Given the description of an element on the screen output the (x, y) to click on. 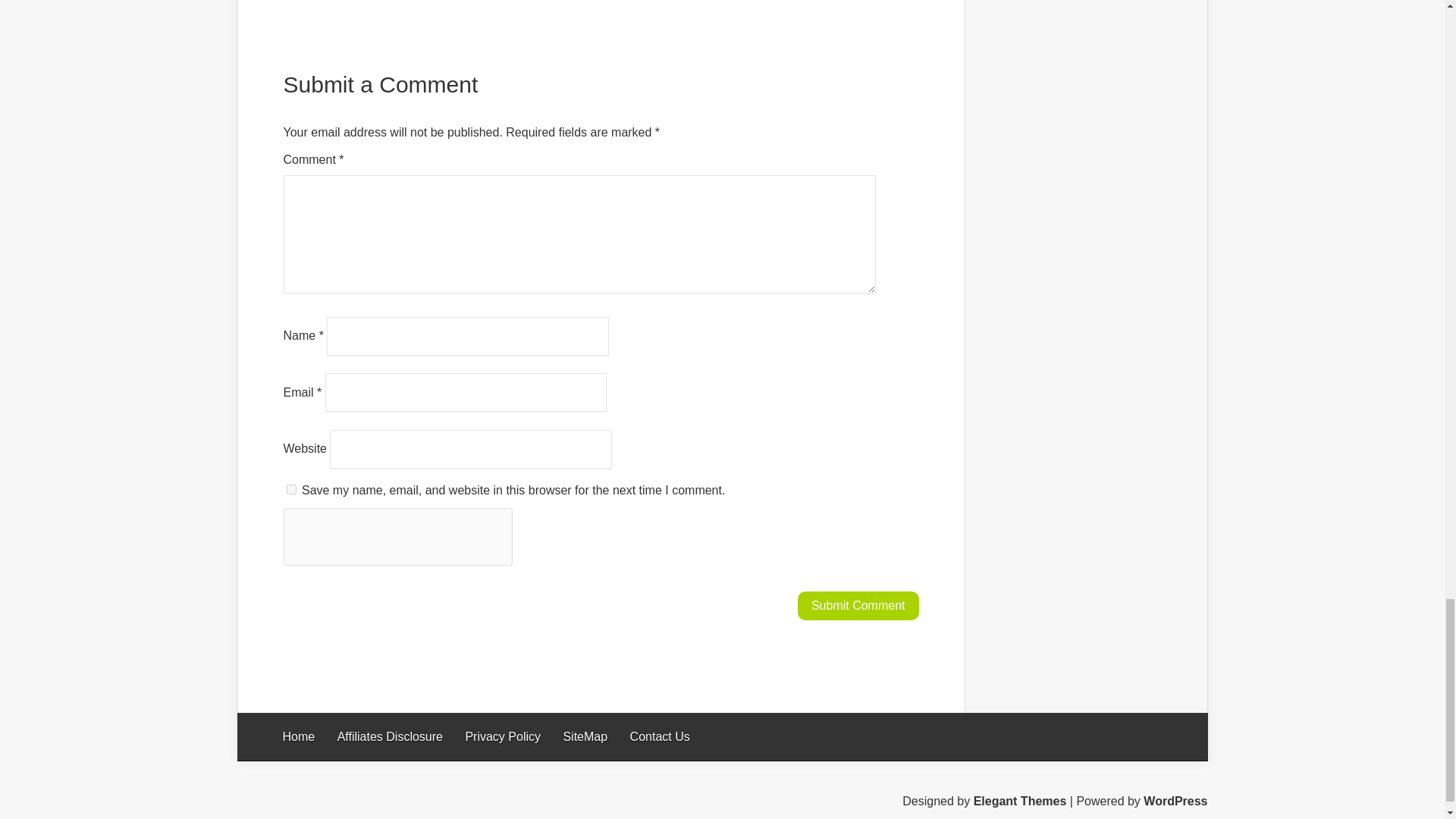
Submit Comment (857, 605)
Submit Comment (857, 605)
yes (291, 489)
Premium WordPress Themes (1020, 800)
